Given the description of an element on the screen output the (x, y) to click on. 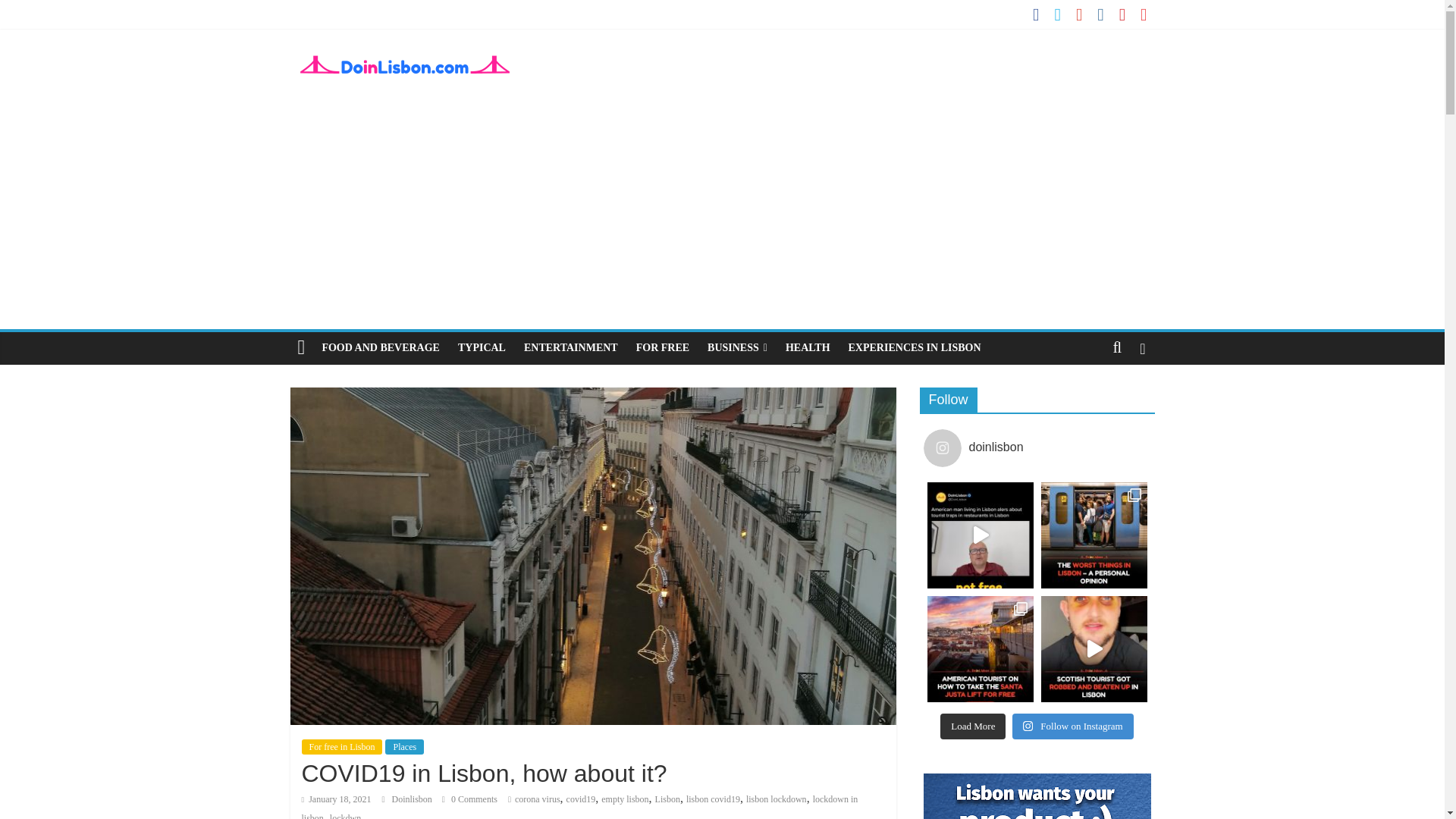
January 18, 2021 (336, 798)
6:35 pm (336, 798)
BUSINESS (737, 347)
lisbon lockdown (775, 798)
ENTERTAINMENT (571, 347)
Places (404, 746)
empty lisbon (624, 798)
HEALTH (808, 347)
Lisbon (667, 798)
EXPERIENCES IN LISBON (915, 347)
For free in Lisbon (341, 746)
FOR FREE (662, 347)
Doinlisbon (412, 798)
covid19 (580, 798)
